Given the description of an element on the screen output the (x, y) to click on. 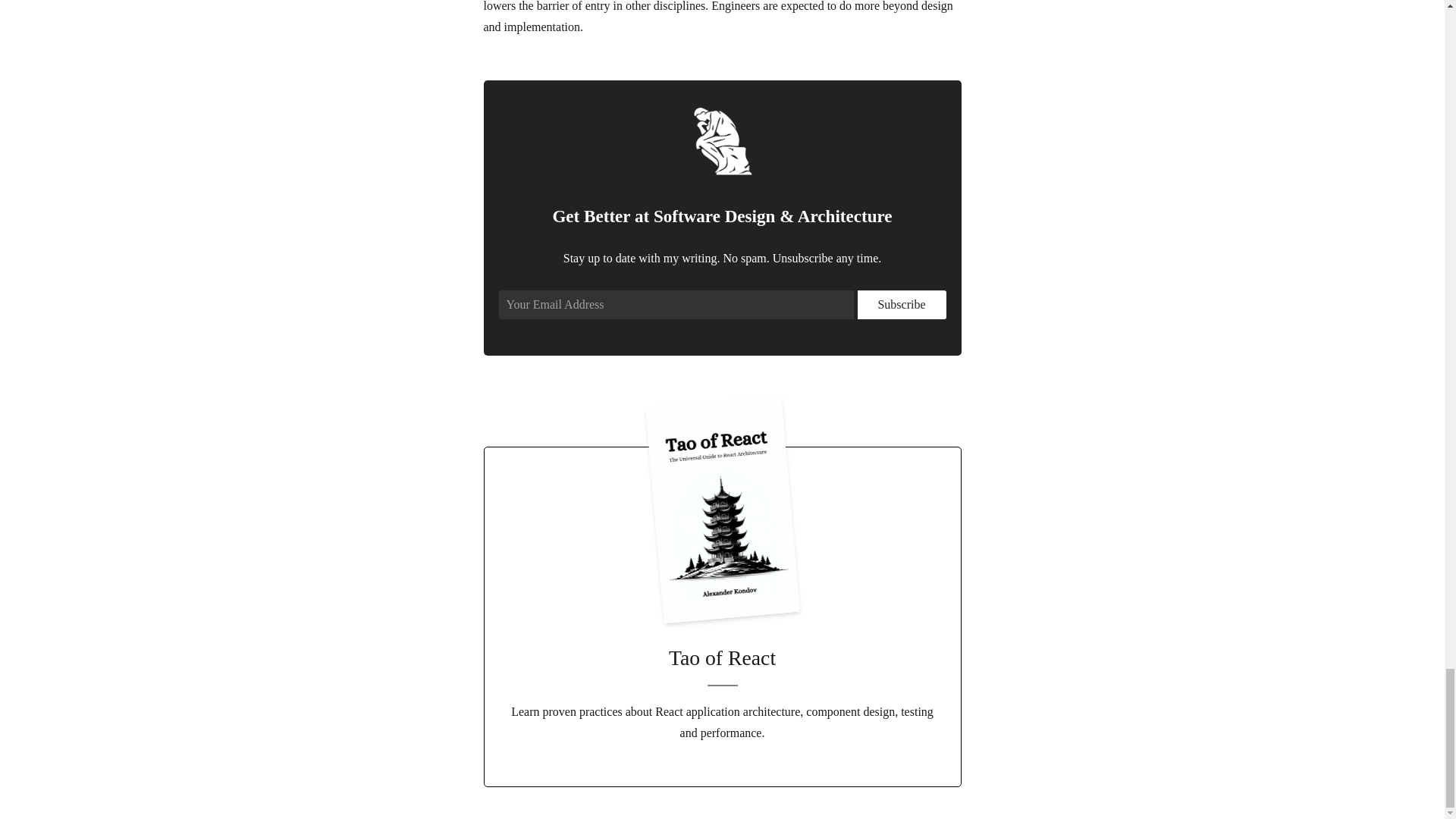
Subscribe (900, 304)
Subscribe (900, 304)
